Given the description of an element on the screen output the (x, y) to click on. 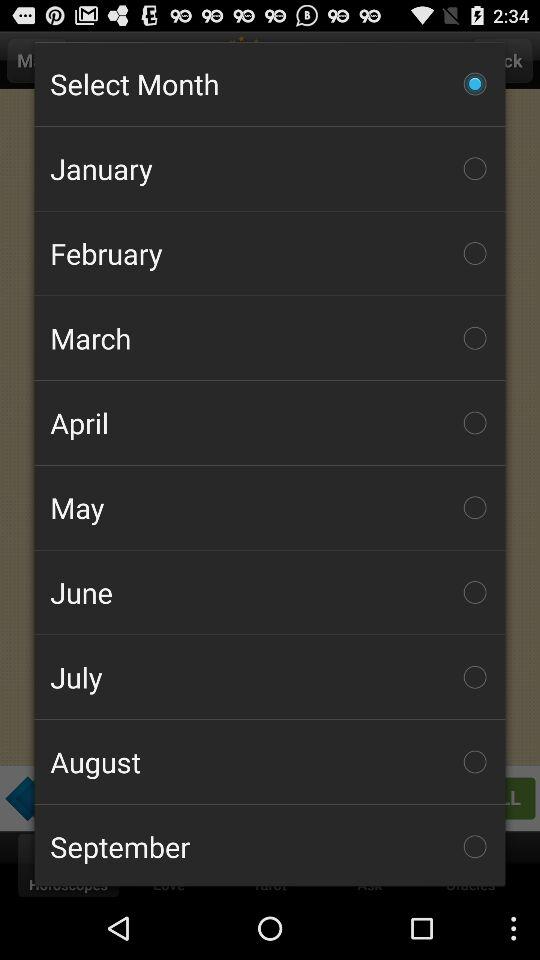
scroll until june icon (269, 592)
